Given the description of an element on the screen output the (x, y) to click on. 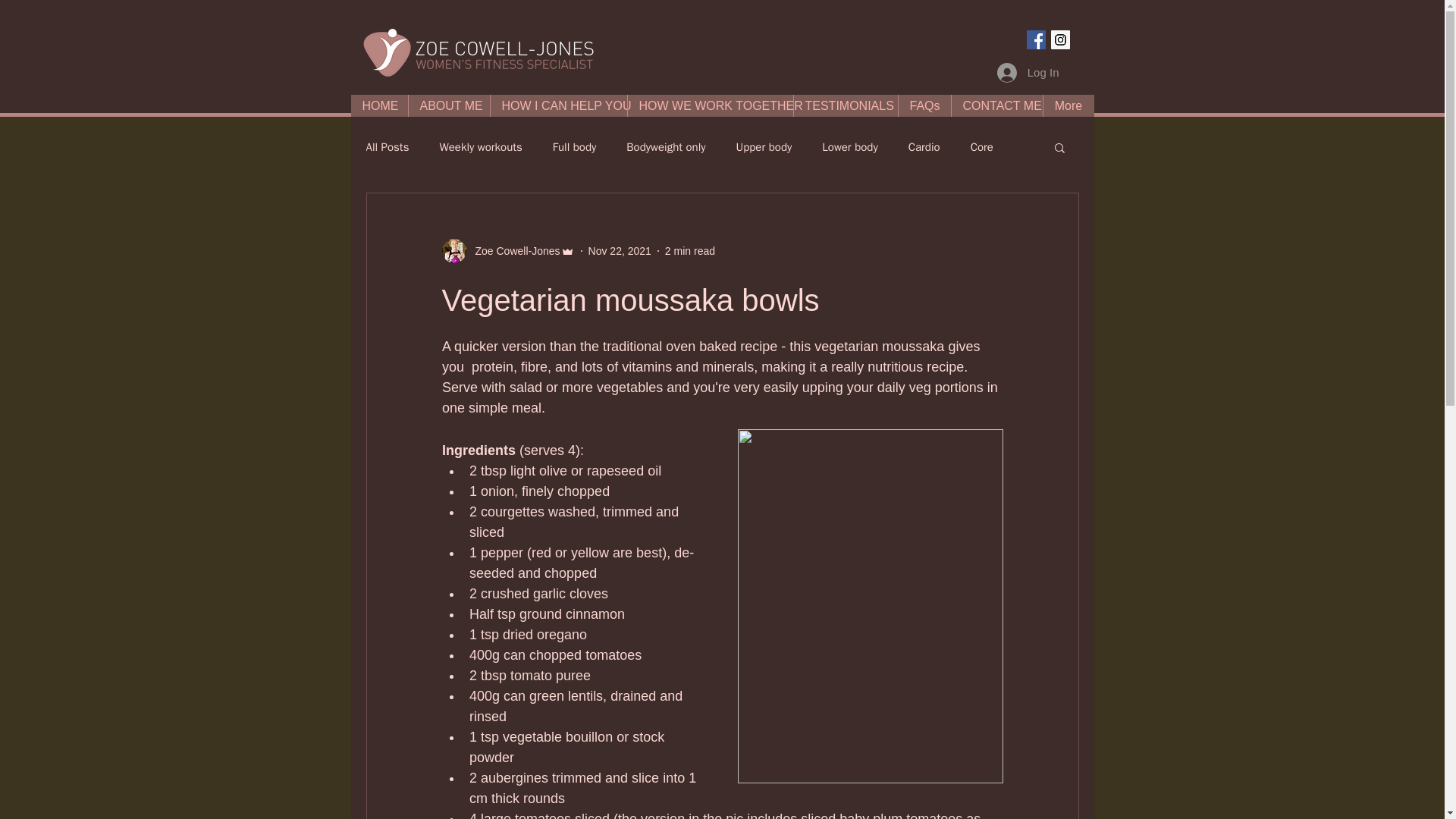
FAQs (924, 106)
Nov 22, 2021 (619, 250)
CONTACT ME (996, 106)
Zoe Cowell-Jones (512, 250)
HOME (378, 106)
All Posts (387, 146)
Full body (574, 146)
HOW WE WORK TOGETHER (709, 106)
Upper body (764, 146)
TESTIMONIALS (845, 106)
Weekly workouts (480, 146)
Bodyweight only (665, 146)
2 min read (689, 250)
Zoe Cowell-Jones (507, 250)
Cardio (924, 146)
